Given the description of an element on the screen output the (x, y) to click on. 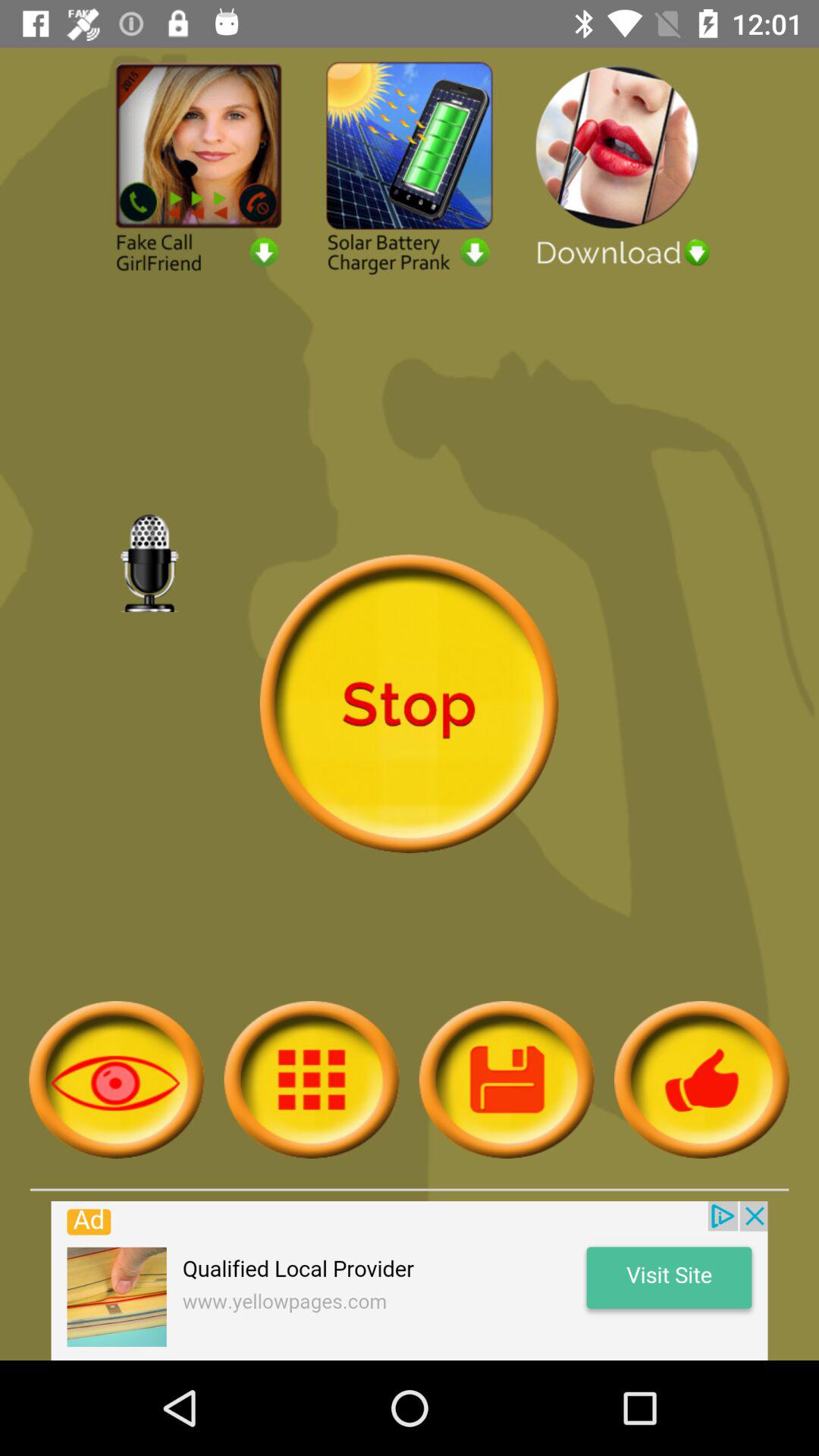
go to like option (701, 1079)
